Given the description of an element on the screen output the (x, y) to click on. 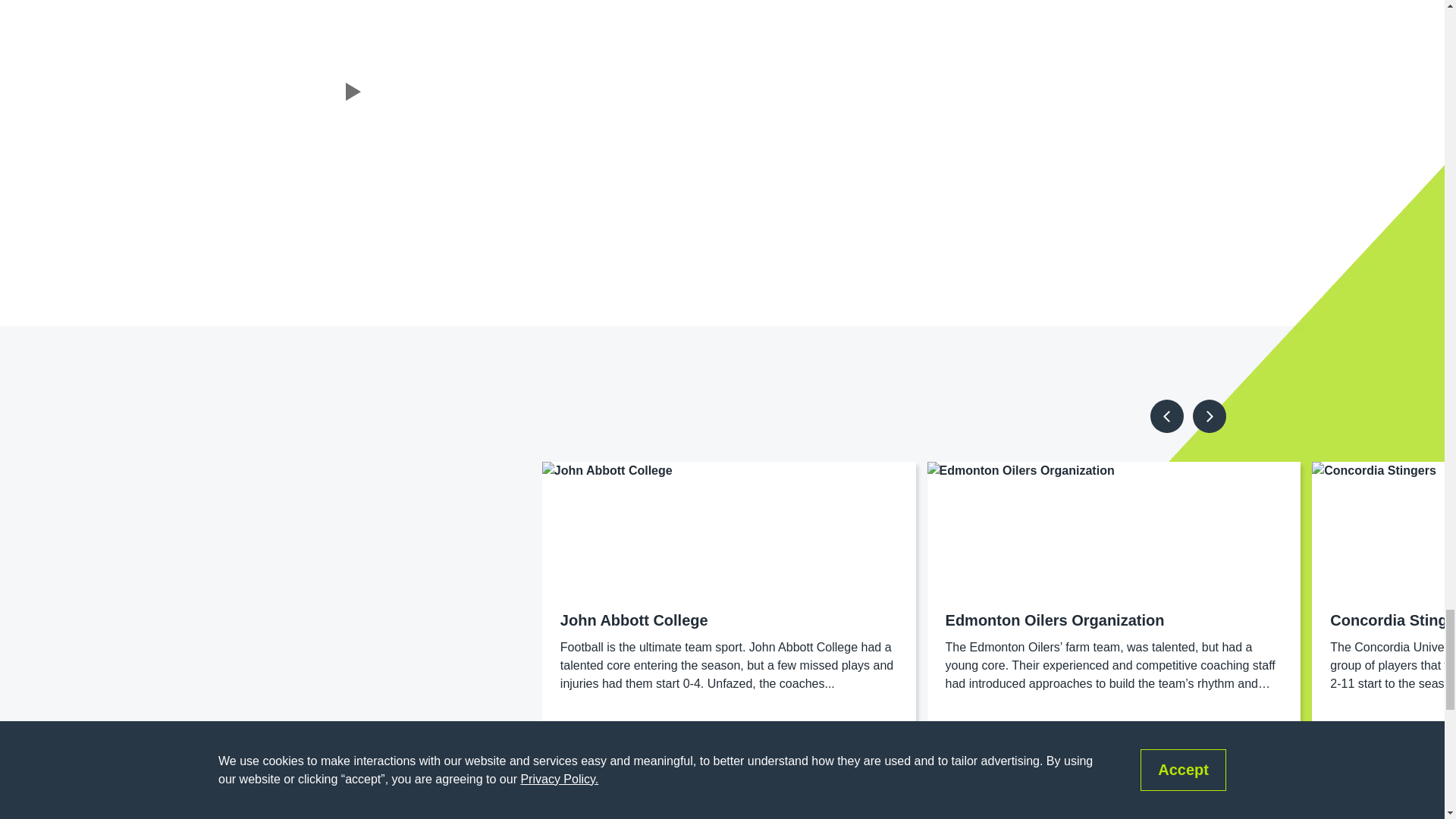
Read more (976, 732)
Read more (1361, 732)
Edmonton Oilers Organization (1054, 619)
John Abbott College (633, 619)
Read more (591, 732)
